Given the description of an element on the screen output the (x, y) to click on. 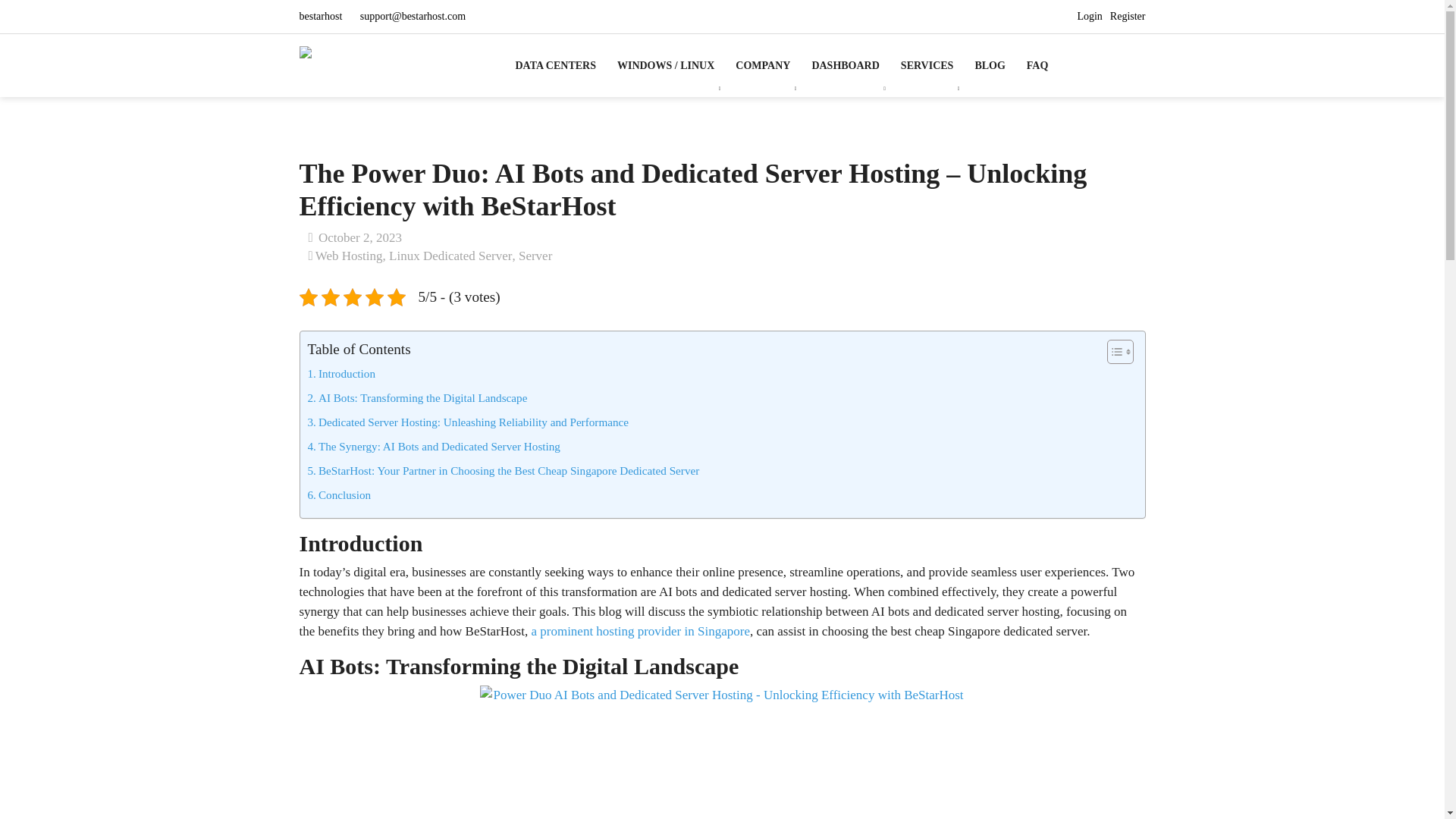
FAQ (1037, 65)
SERVICES (926, 65)
DASHBOARD (844, 65)
Server (534, 255)
AI Bots: Transforming the Digital Landscape (417, 398)
Login (1089, 16)
The Synergy: AI Bots and Dedicated Server Hosting (433, 446)
COMPANY (762, 65)
bestarhost (320, 16)
DATA CENTERS (561, 65)
Introduction (341, 373)
Linux Dedicated Server (450, 255)
Register (1127, 16)
